Given the description of an element on the screen output the (x, y) to click on. 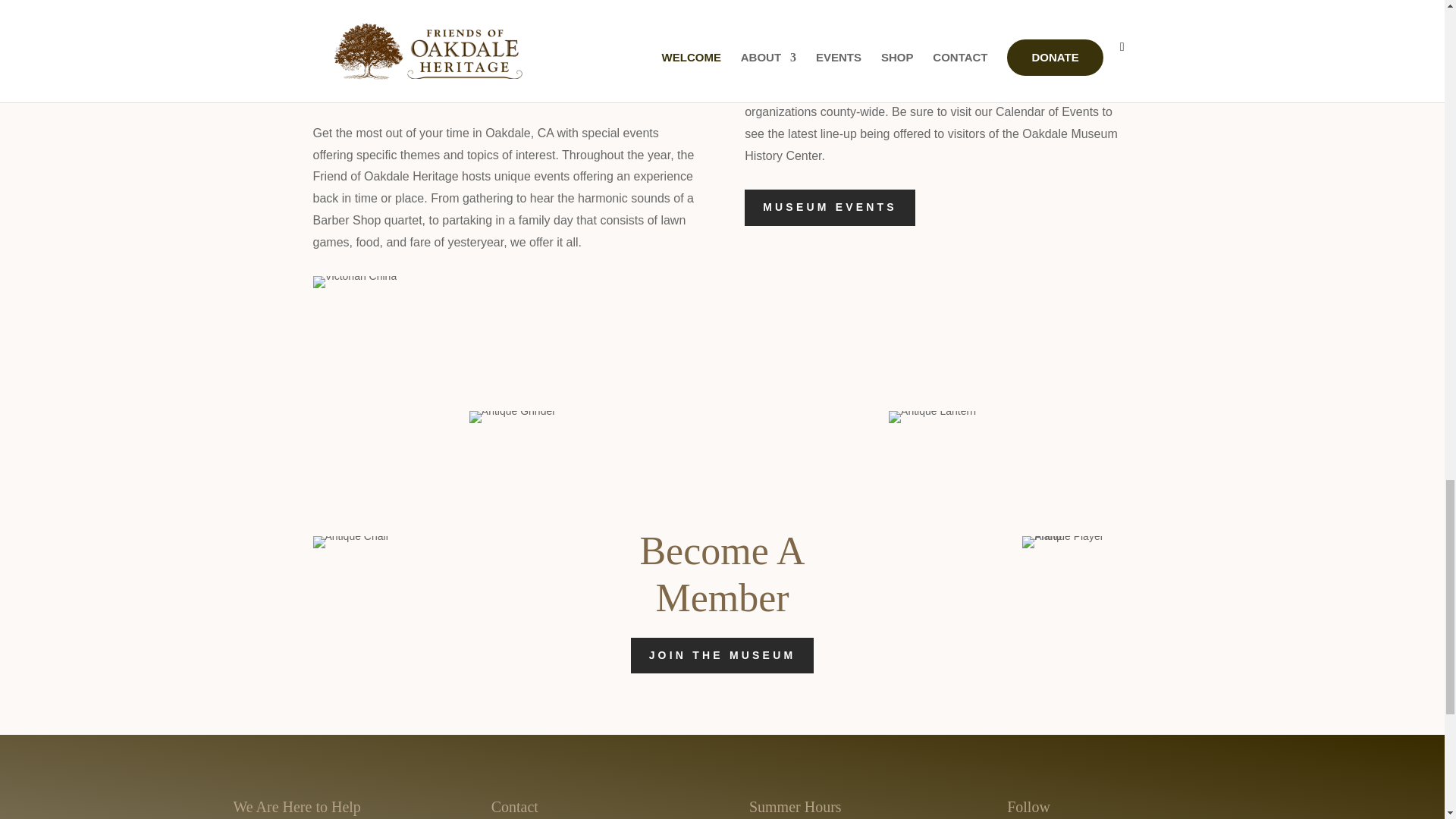
Antique Grinder (512, 417)
Antique Player Piano (1076, 541)
Antique Chair (350, 541)
Antique Washer (787, 51)
Antique Lantern (931, 417)
MUSEUM EVENTS (829, 207)
JOIN THE MUSEUM (721, 656)
Victorian China (354, 282)
